Given the description of an element on the screen output the (x, y) to click on. 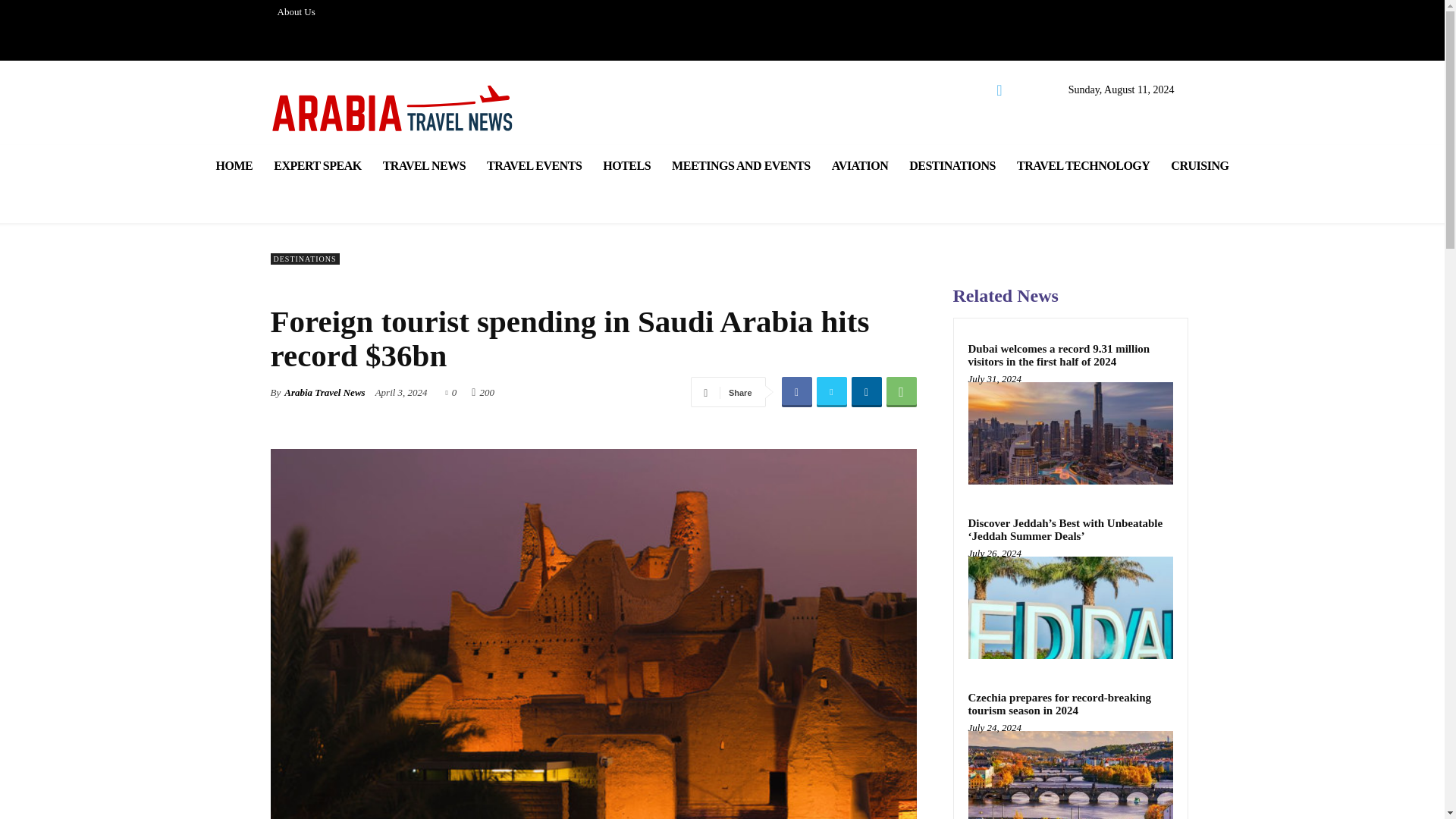
WhatsApp (900, 391)
Facebook (795, 391)
HOTELS (626, 165)
Linkedin (865, 391)
HOME (234, 165)
About Us (295, 12)
CRUISING (1199, 165)
TRAVEL EVENTS (534, 165)
TRAVEL TECHNOLOGY (1083, 165)
TRAVEL NEWS (424, 165)
